Given the description of an element on the screen output the (x, y) to click on. 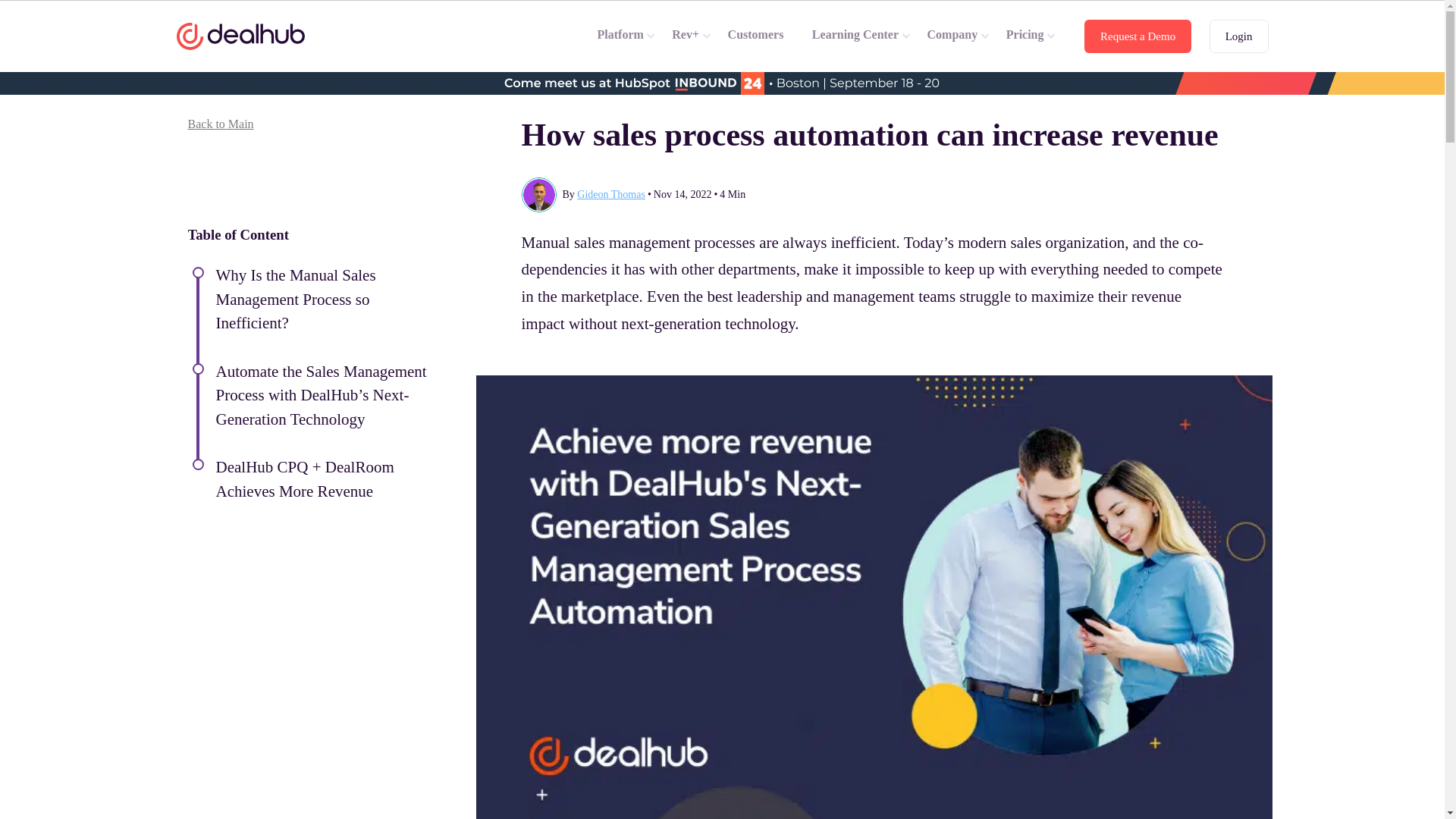
Learning Center (861, 36)
Why Is the Manual Sales Management Process so Inefficient? (295, 299)
Customers (761, 36)
Platform (625, 36)
